Given the description of an element on the screen output the (x, y) to click on. 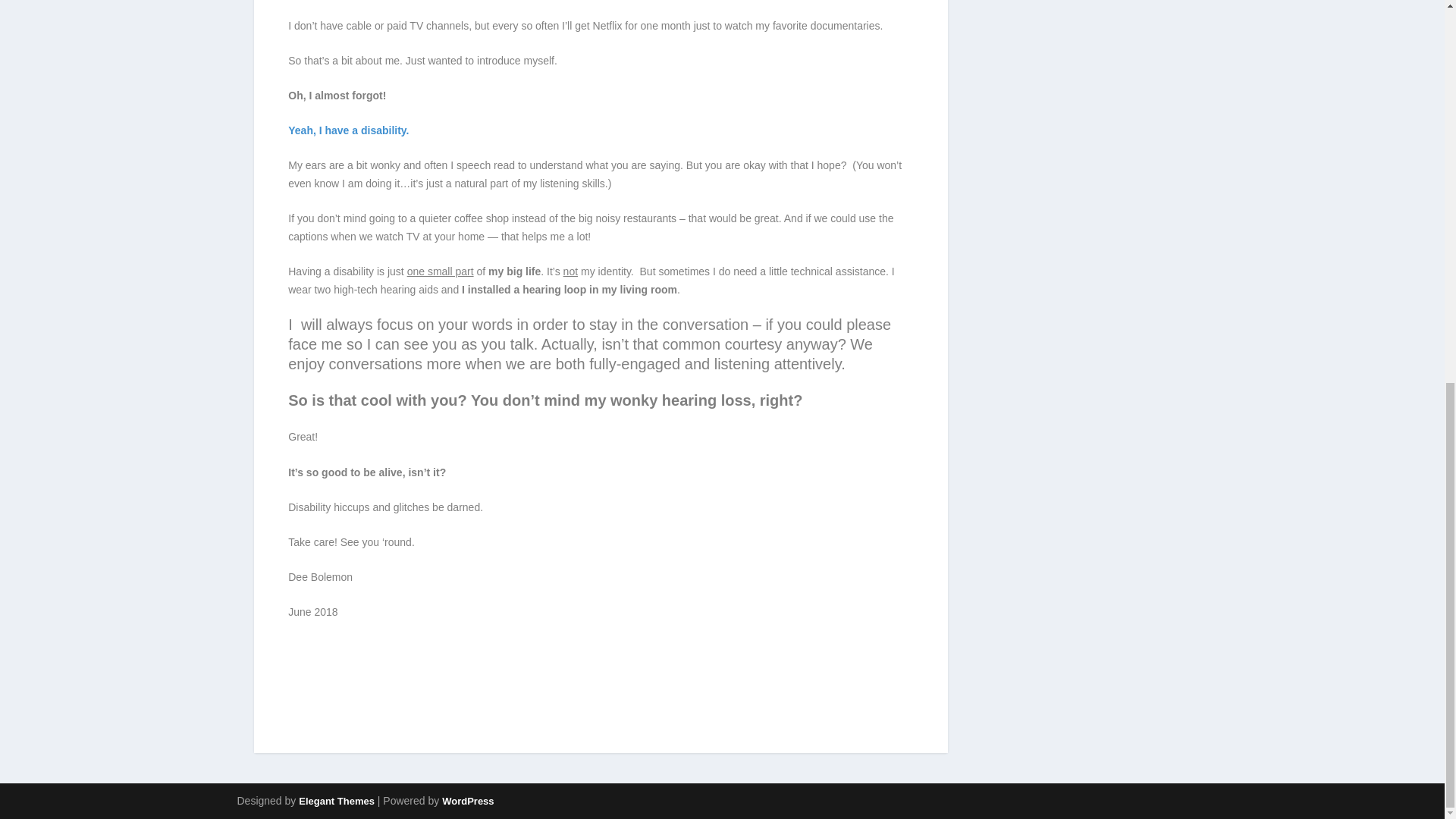
Elegant Themes (336, 800)
Premium WordPress Themes (336, 800)
WordPress (467, 800)
